Given the description of an element on the screen output the (x, y) to click on. 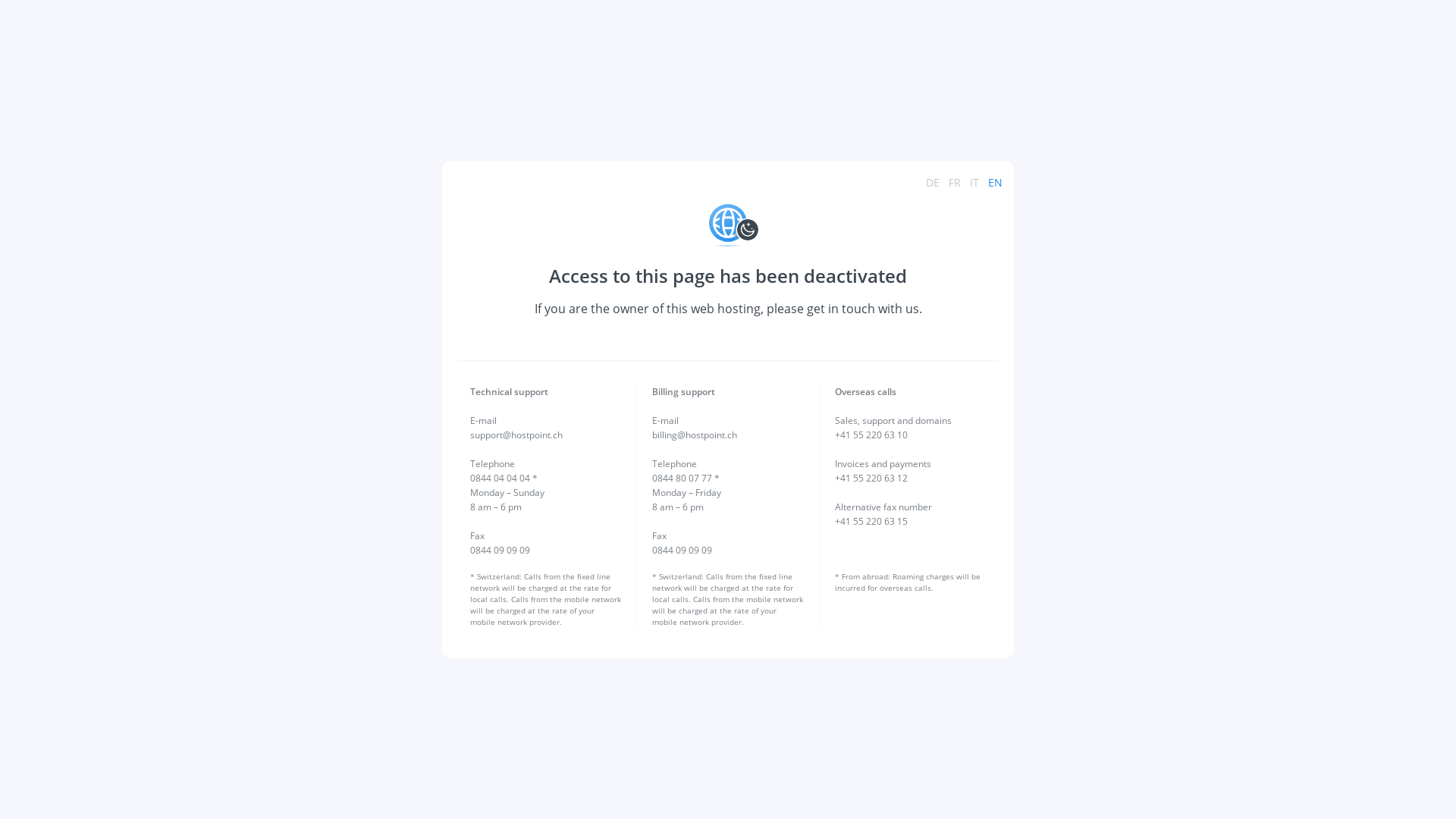
support@hostpoint.ch Element type: text (516, 434)
billing@hostpoint.ch Element type: text (694, 434)
